Given the description of an element on the screen output the (x, y) to click on. 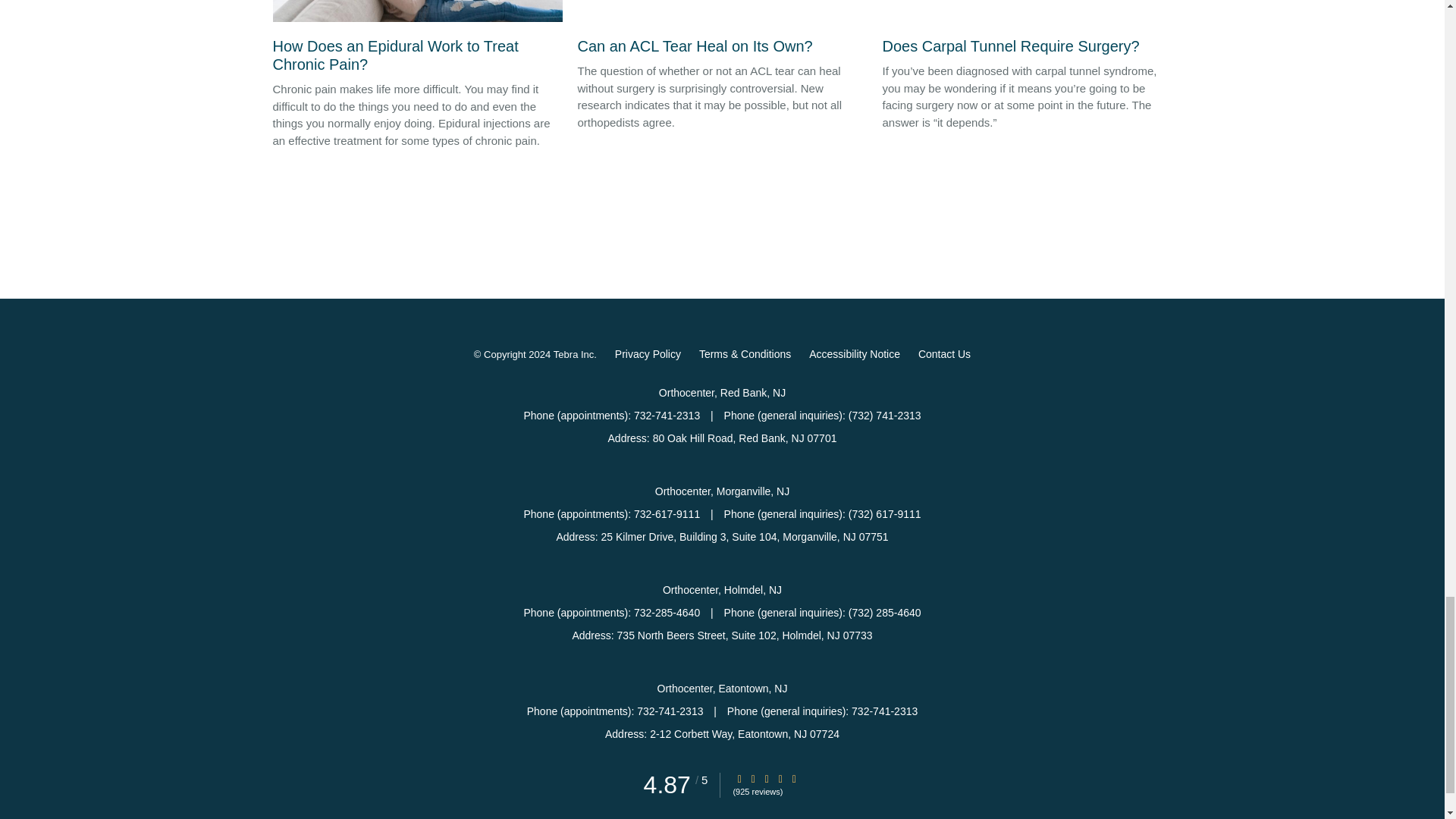
Star Rating (780, 778)
Star Rating (794, 778)
Star Rating (738, 778)
Star Rating (766, 778)
Star Rating (753, 778)
